Given the description of an element on the screen output the (x, y) to click on. 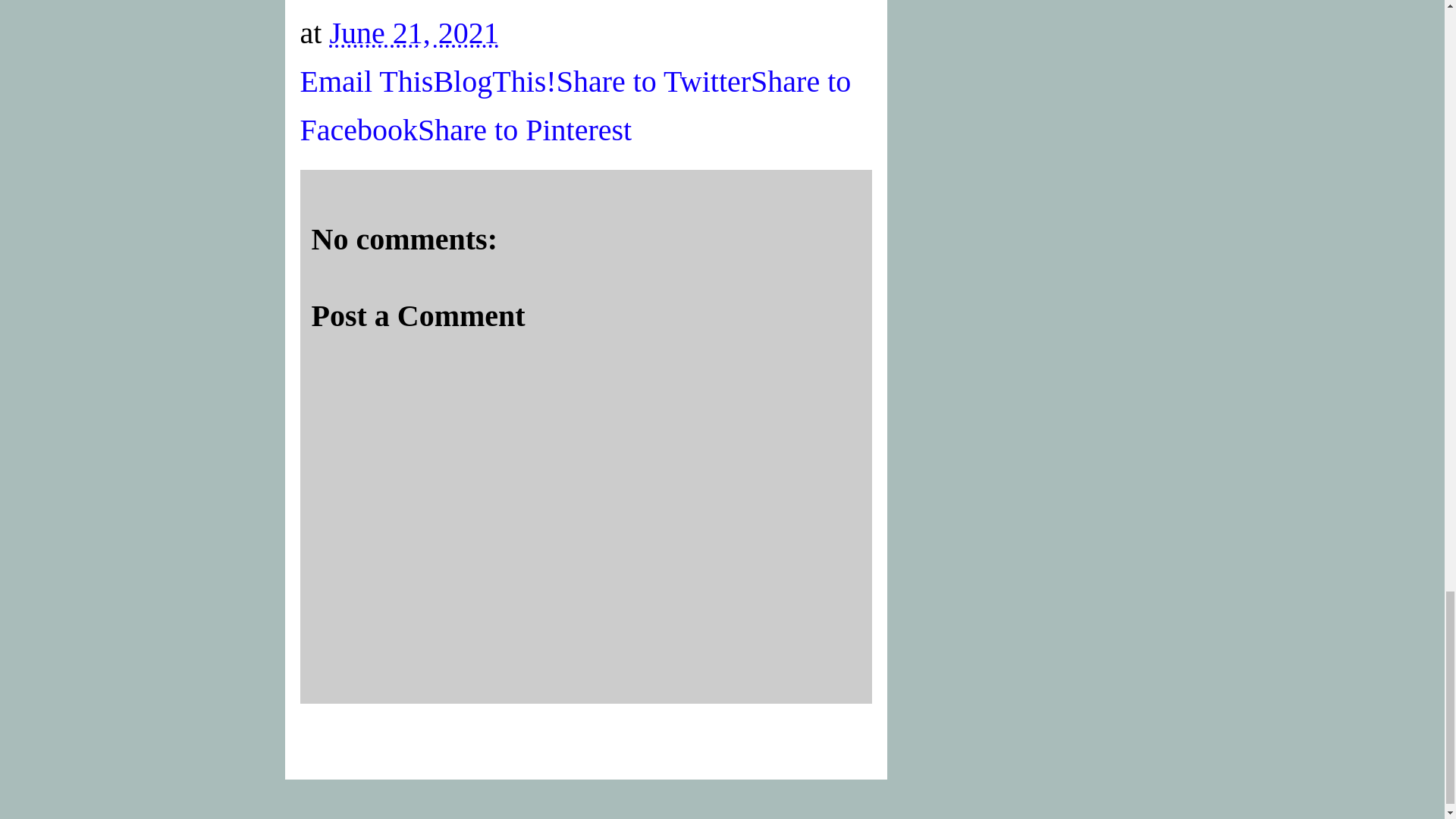
Share to Twitter (653, 81)
Share to Pinterest (524, 130)
Share to Twitter (653, 81)
permanent link (413, 32)
Share to Facebook (575, 105)
Share to Facebook (575, 105)
BlogThis! (494, 81)
Share to Pinterest (524, 130)
Email This (366, 81)
June 21, 2021 (413, 32)
